Given the description of an element on the screen output the (x, y) to click on. 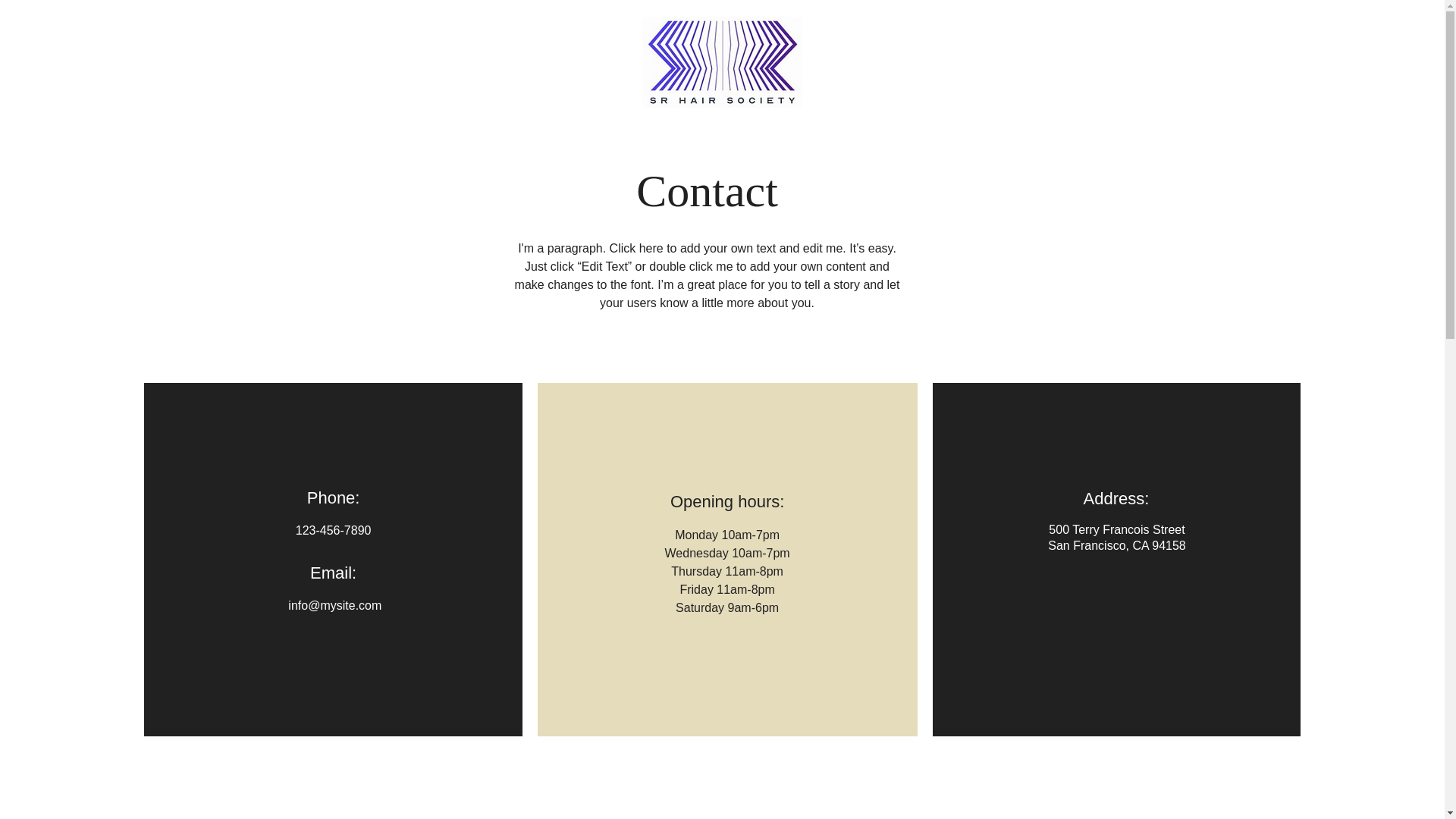
Screen Shot 2022-10-19 at 12.06.04 PM.png (722, 61)
